Given the description of an element on the screen output the (x, y) to click on. 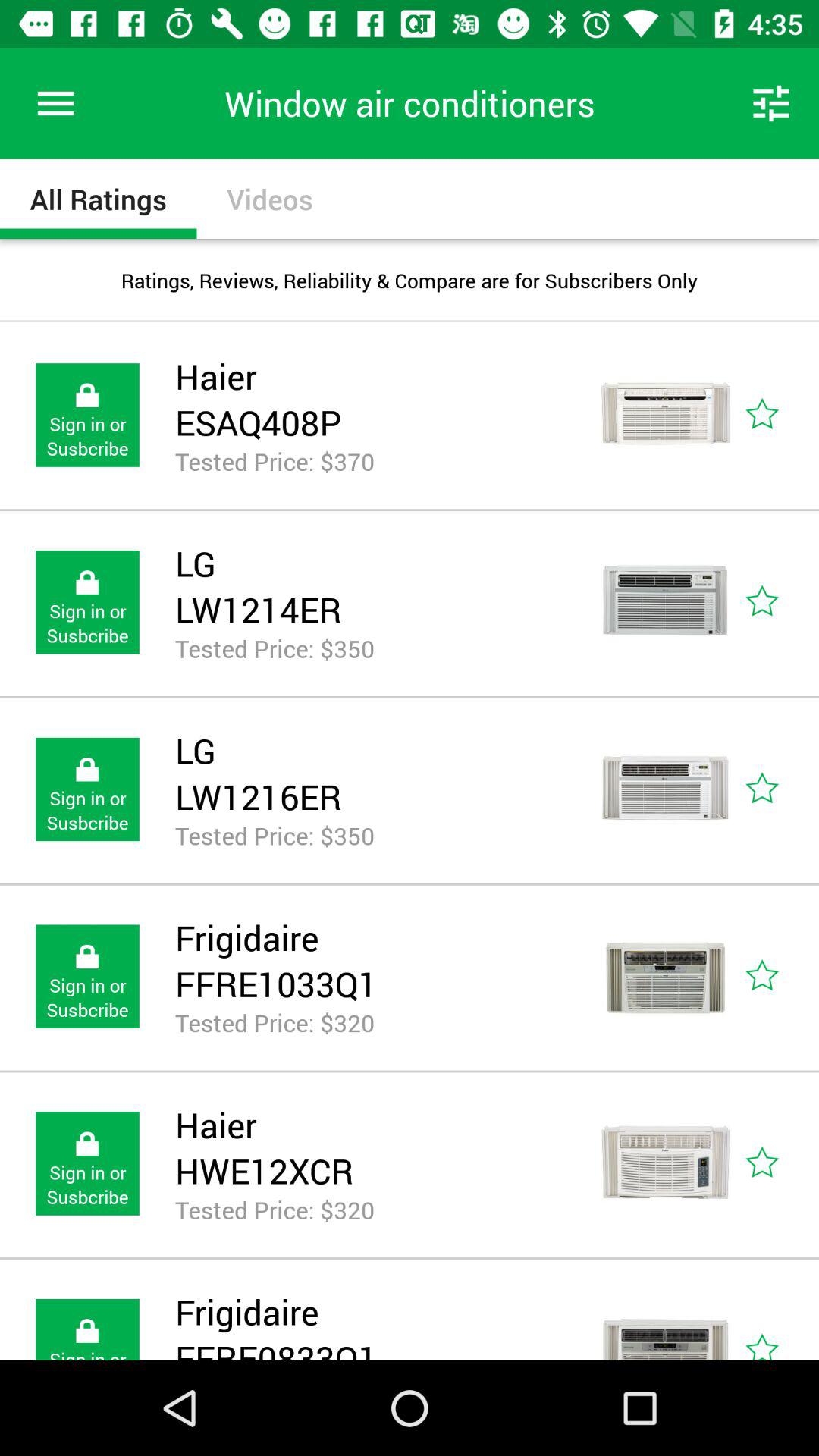
choose the icon next to the window air conditioners (771, 103)
